Given the description of an element on the screen output the (x, y) to click on. 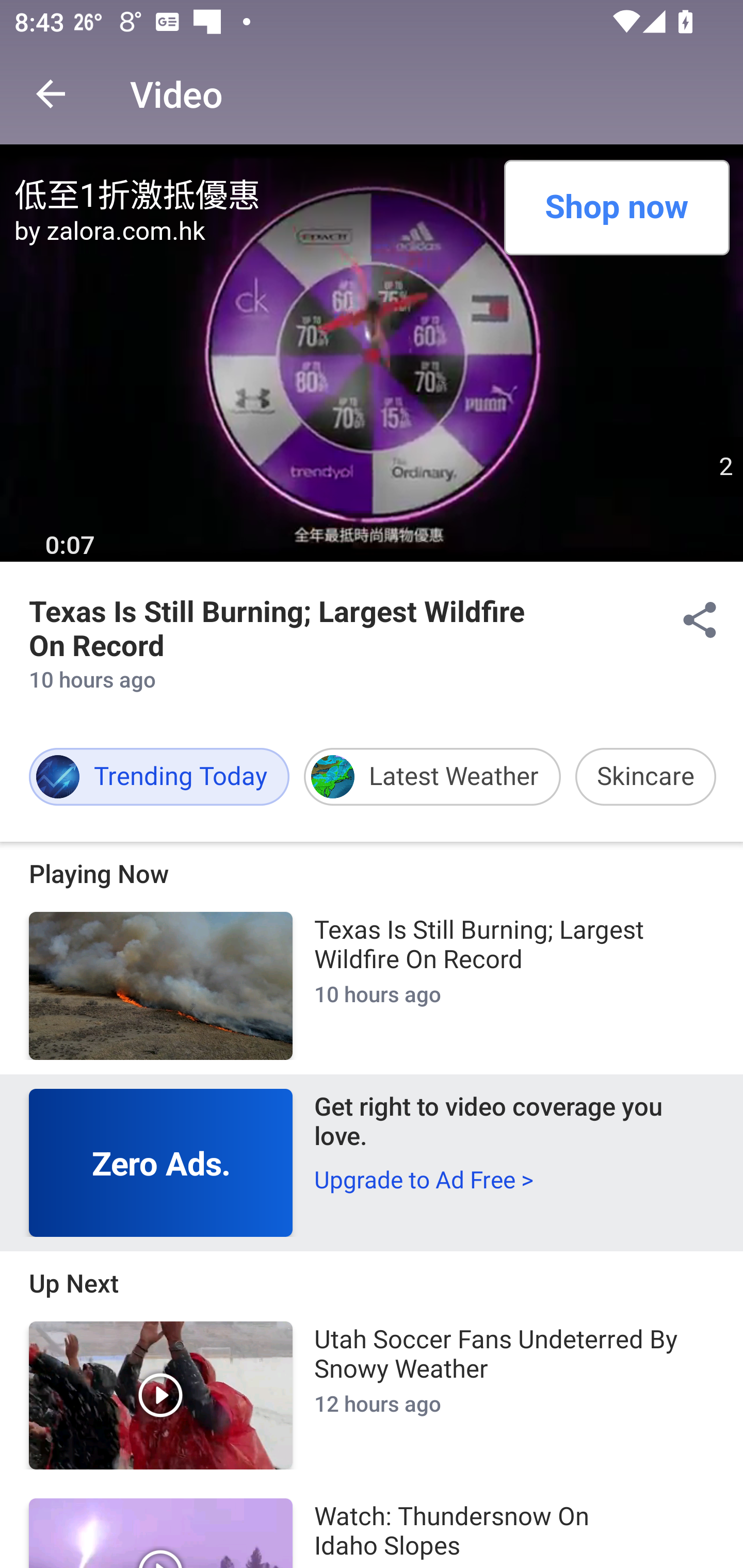
Navigate up (50, 93)
Shop now (616, 206)
低至1折激抵優惠 (252, 191)
by zalora.com.hk (252, 230)
Skip Ad Countdown (725, 466)
0:07 (70, 545)
Trending Today (158, 776)
Latest Weather (431, 776)
Skincare (645, 776)
Play (160, 1395)
